Given the description of an element on the screen output the (x, y) to click on. 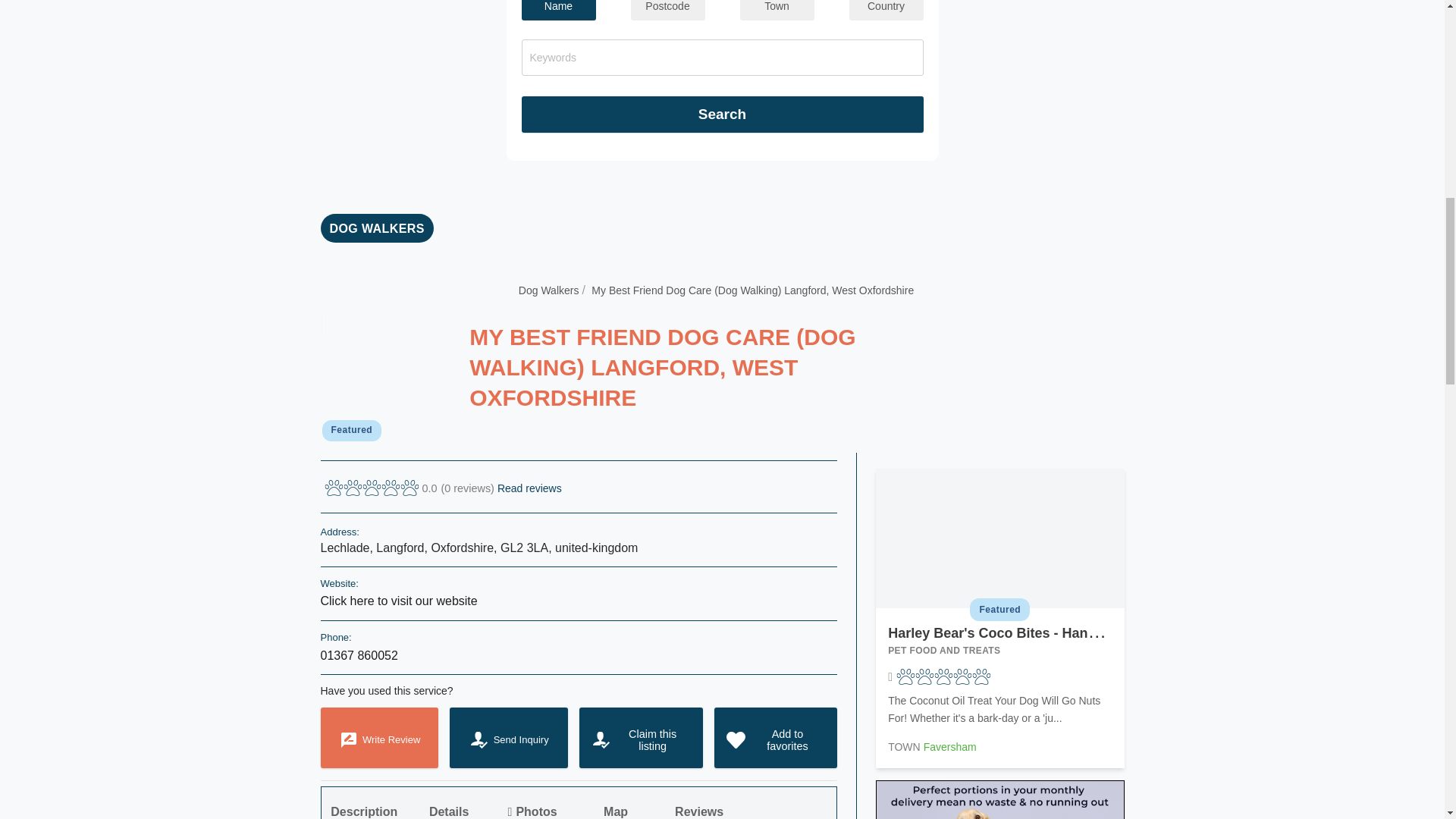
User rating (443, 488)
